Given the description of an element on the screen output the (x, y) to click on. 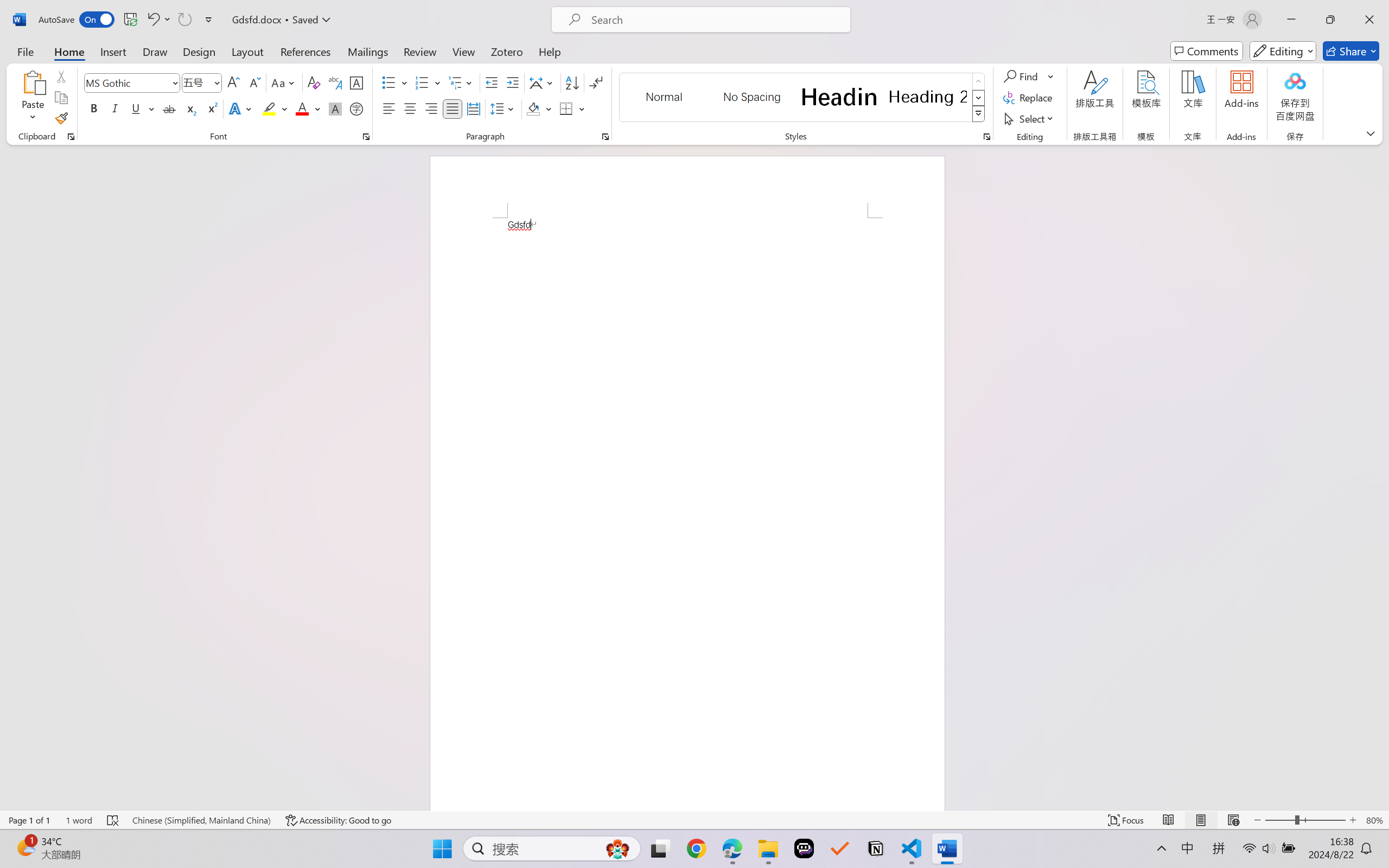
Microsoft search (715, 19)
Font Color Red (302, 108)
